Given the description of an element on the screen output the (x, y) to click on. 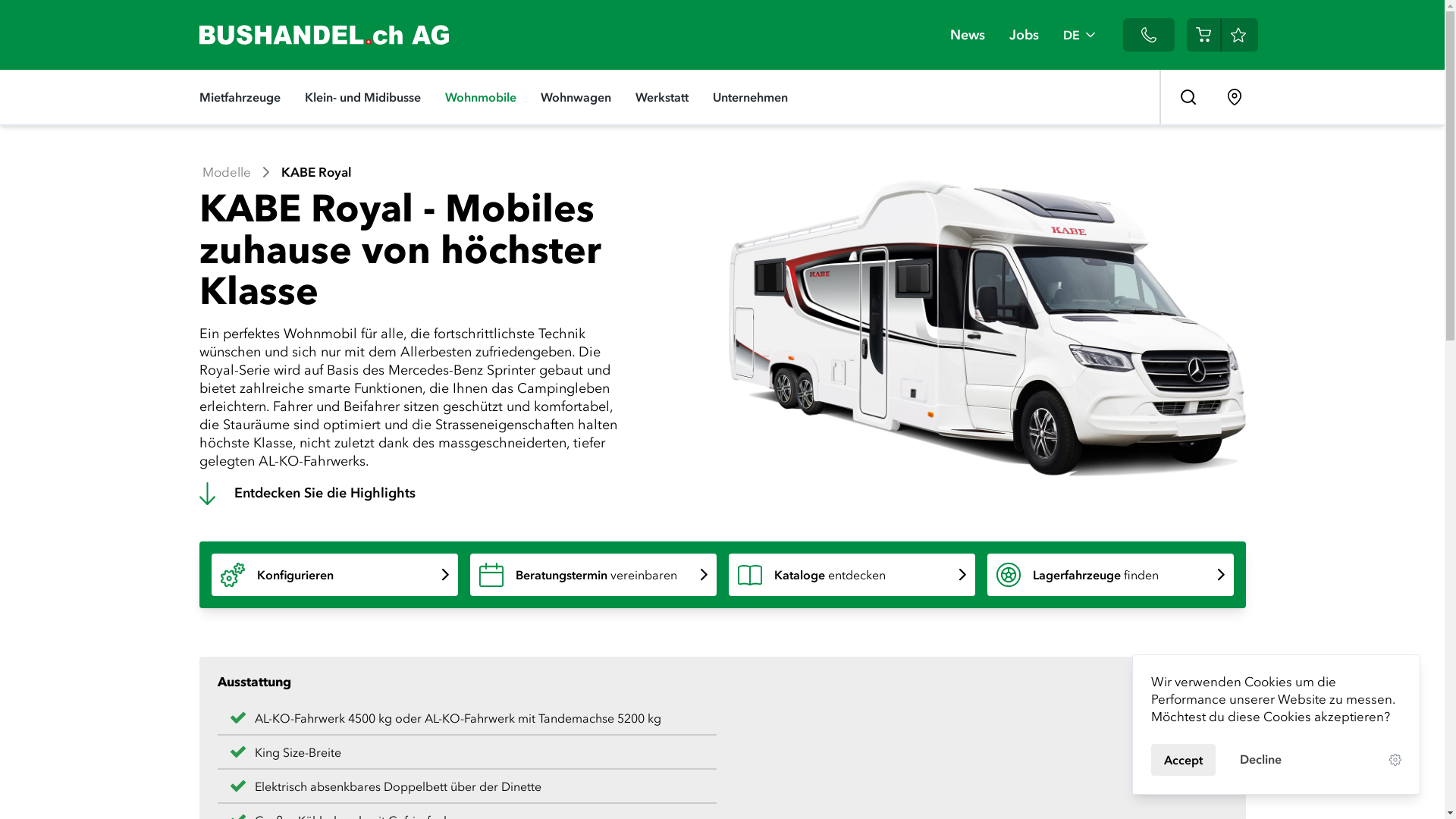
Wohnwagen Element type: text (574, 96)
Jobs Element type: text (1023, 34)
Beratungstermin vereinbaren Element type: text (593, 574)
Accept Element type: text (1183, 759)
Konfigurieren Element type: text (333, 574)
Klein- und Midibusse Element type: text (362, 96)
Mietfahrzeuge Element type: text (238, 96)
Werkstatt Element type: text (661, 96)
Kataloge entdecken Element type: text (851, 574)
Unternehmen Element type: text (749, 96)
Decline Element type: text (1260, 758)
Lagerfahrzeuge finden Element type: text (1110, 574)
News Element type: text (966, 34)
Wohnmobile Element type: text (479, 96)
